Given the description of an element on the screen output the (x, y) to click on. 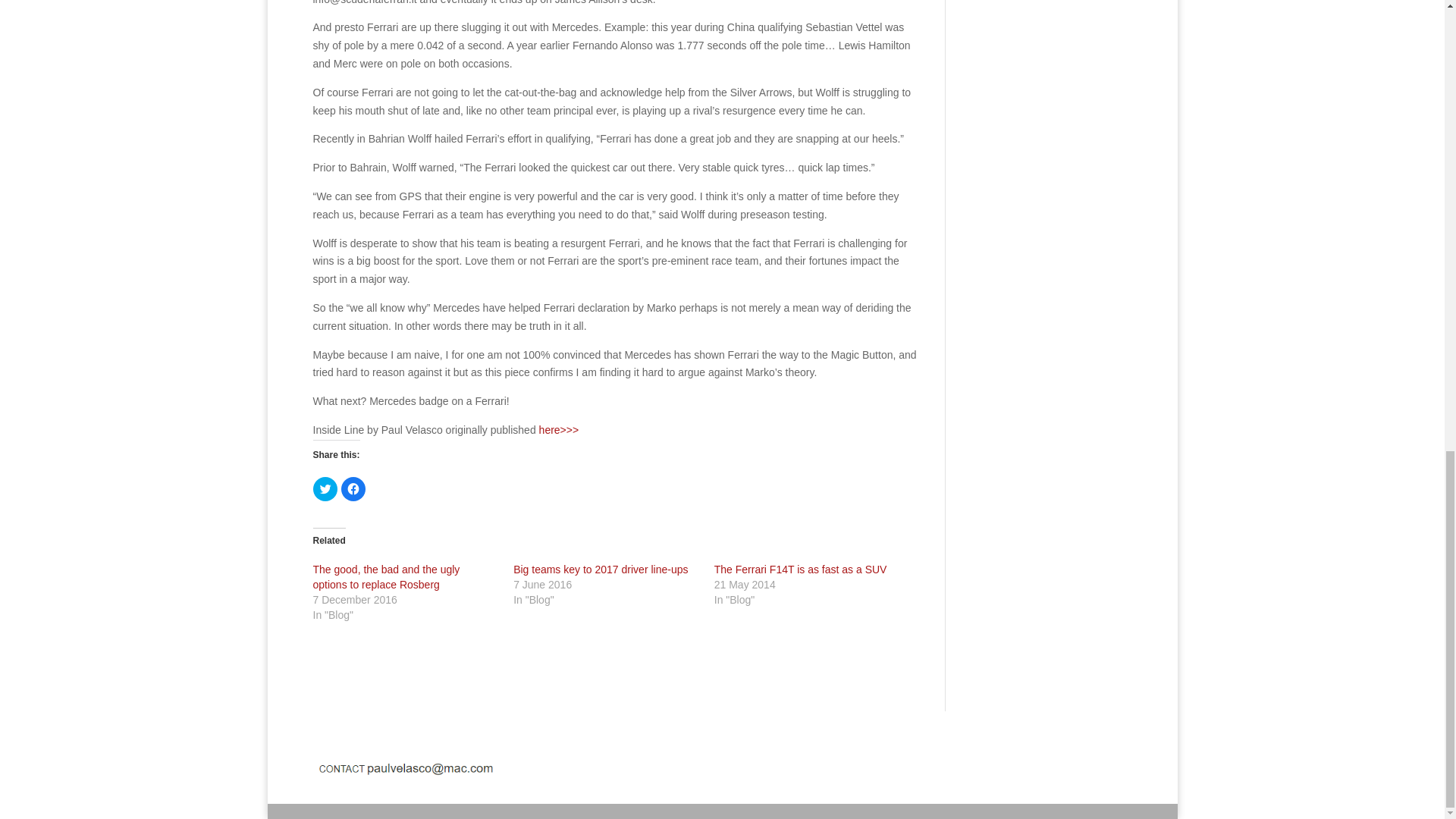
Big teams key to 2017 driver line-ups (600, 569)
Big teams key to 2017 driver line-ups (600, 569)
The good, the bad and the ugly options to replace Rosberg (386, 576)
The good, the bad and the ugly options to replace Rosberg (386, 576)
The Ferrari F14T is as fast as a SUV (800, 569)
The Ferrari F14T is as fast as a SUV (800, 569)
Click to share on Twitter (324, 488)
Click to share on Facebook (352, 488)
